Given the description of an element on the screen output the (x, y) to click on. 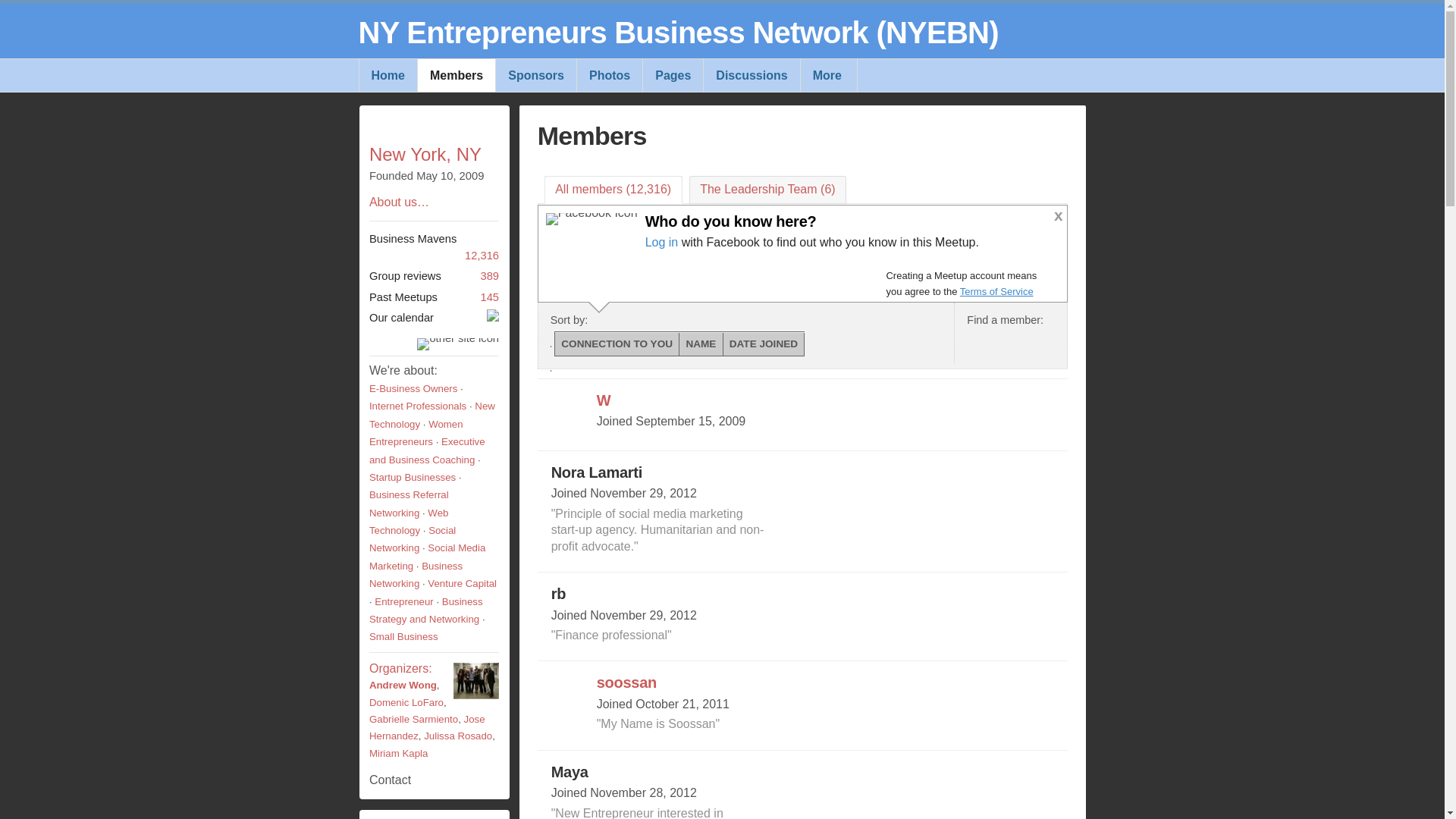
Photos (609, 74)
Home (387, 74)
Pages (672, 74)
CONNECTION TO YOU (616, 343)
soossan (626, 682)
Terms of Service (996, 291)
NAME (700, 343)
Discussions (751, 74)
Sponsors (535, 74)
More (828, 74)
Members (455, 74)
DATE JOINED (764, 343)
Log in (661, 241)
